Given the description of an element on the screen output the (x, y) to click on. 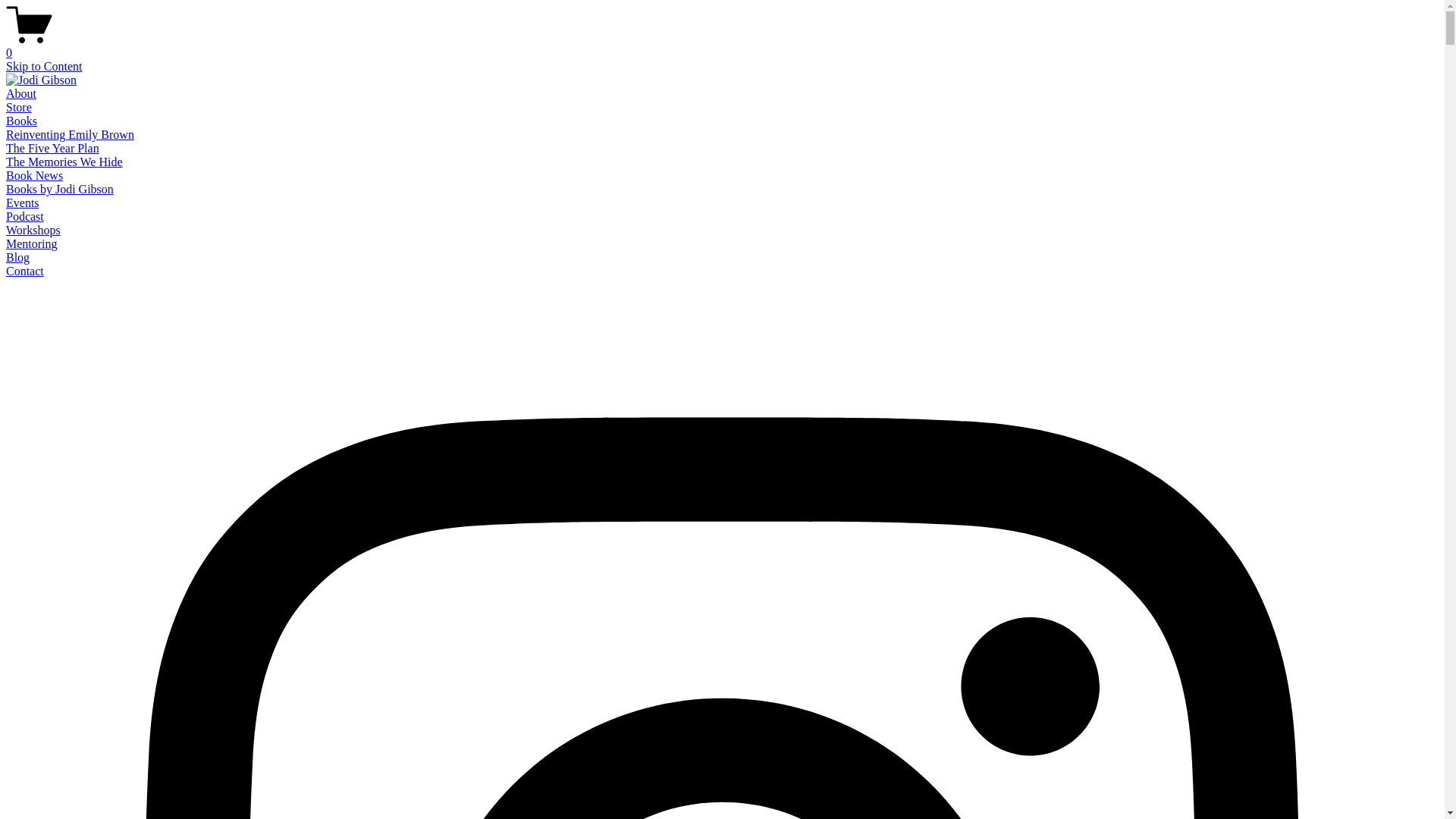
0 Element type: text (722, 45)
Podcast Element type: text (24, 216)
Workshops Element type: text (33, 229)
Books Element type: text (21, 120)
The Memories We Hide Element type: text (64, 161)
The Five Year Plan Element type: text (52, 147)
About Element type: text (21, 93)
Reinventing Emily Brown Element type: text (70, 134)
Events Element type: text (22, 202)
Store Element type: text (18, 106)
Contact Element type: text (24, 270)
Mentoring Element type: text (31, 243)
Skip to Content Element type: text (43, 65)
Blog Element type: text (17, 257)
Books by Jodi Gibson Element type: text (59, 188)
Book News Element type: text (34, 175)
